Given the description of an element on the screen output the (x, y) to click on. 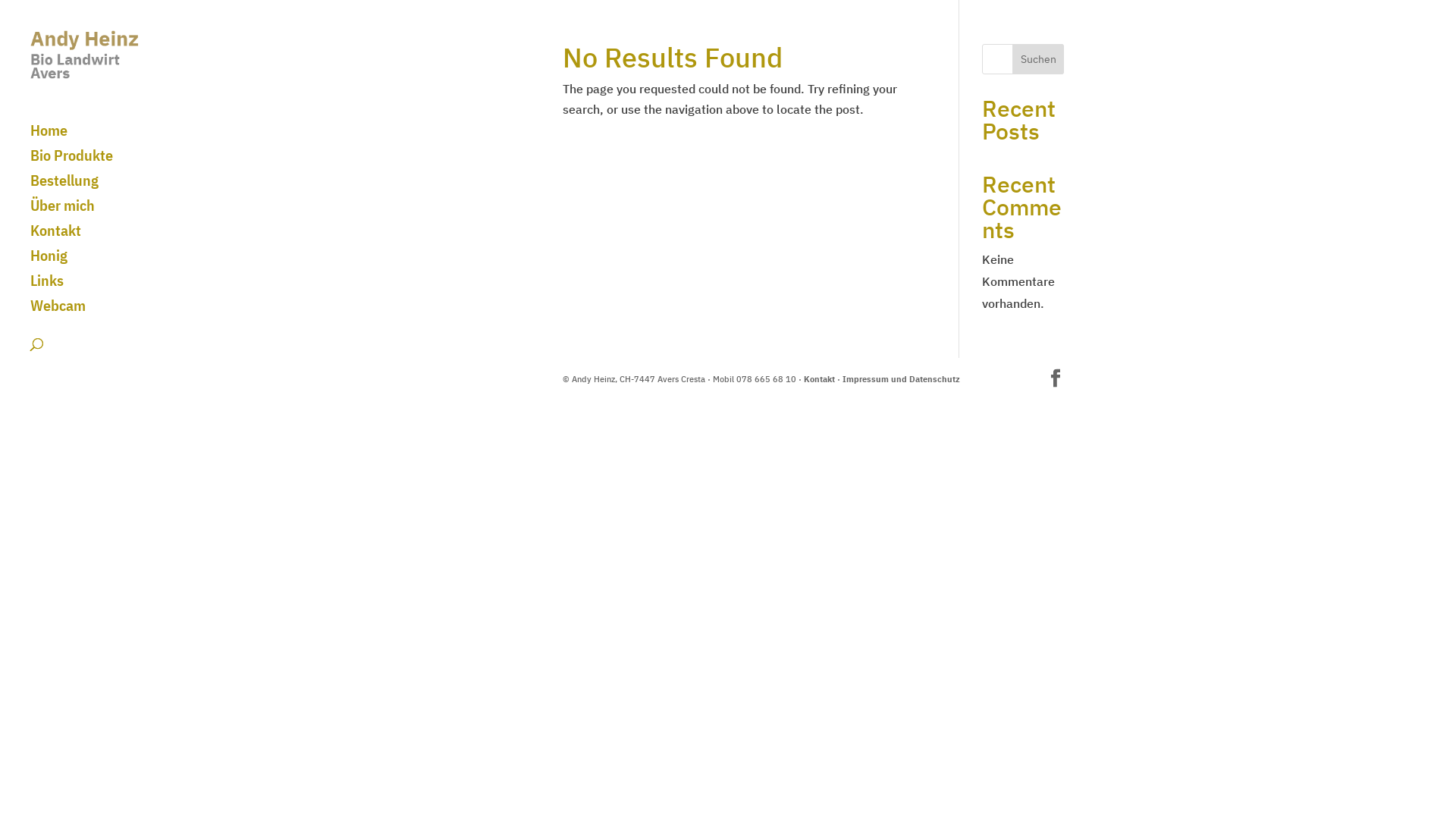
Suchen Element type: text (1038, 58)
Impressum und Datenschutz Element type: text (900, 378)
Bestellung Element type: text (100, 187)
Honig Element type: text (100, 262)
Home Element type: text (100, 137)
Links Element type: text (100, 287)
Kontakt Element type: text (100, 237)
Kontakt Element type: text (818, 378)
Bio Produkte Element type: text (100, 162)
Webcam Element type: text (100, 312)
